Given the description of an element on the screen output the (x, y) to click on. 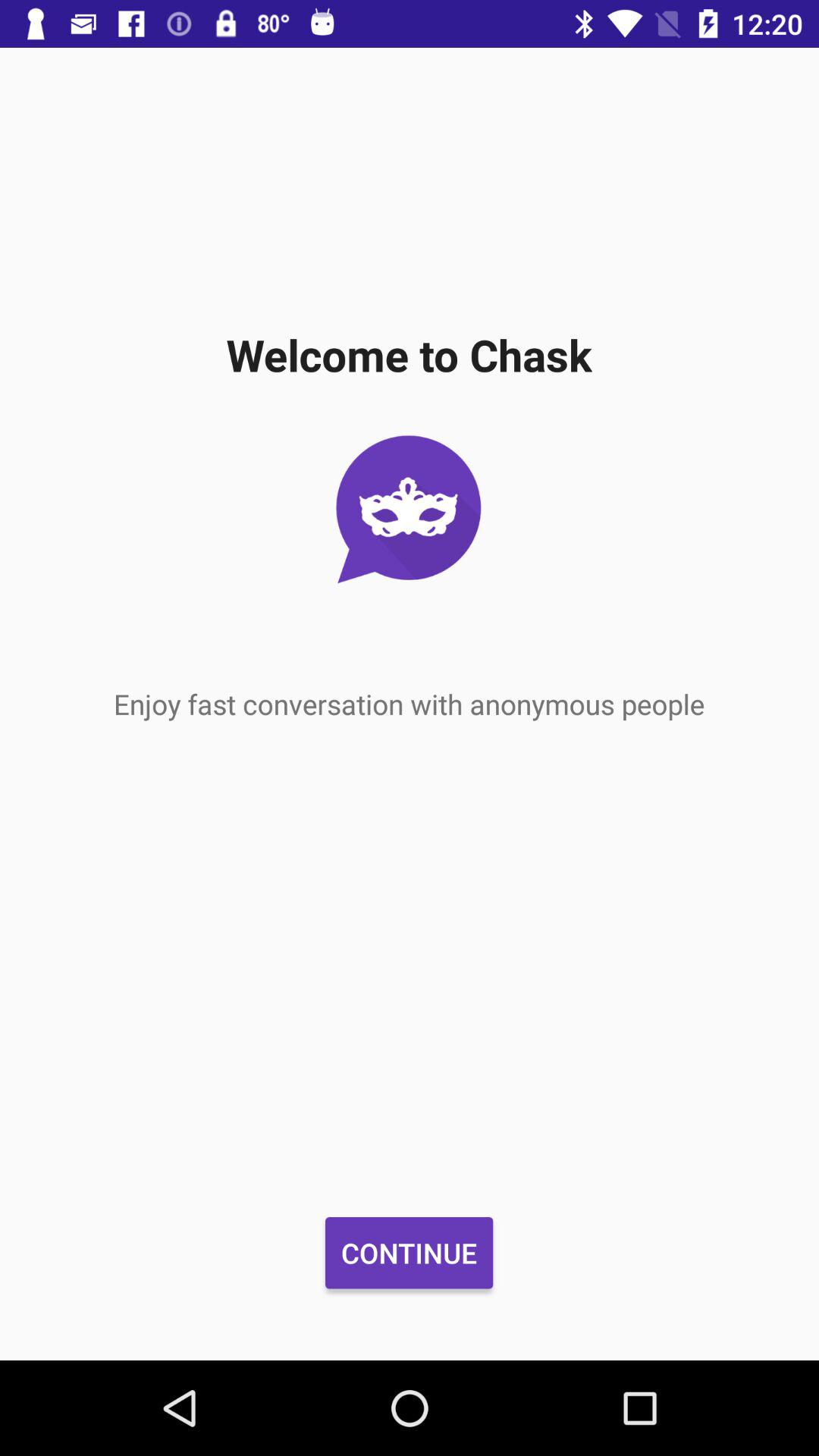
launch continue item (409, 1252)
